Given the description of an element on the screen output the (x, y) to click on. 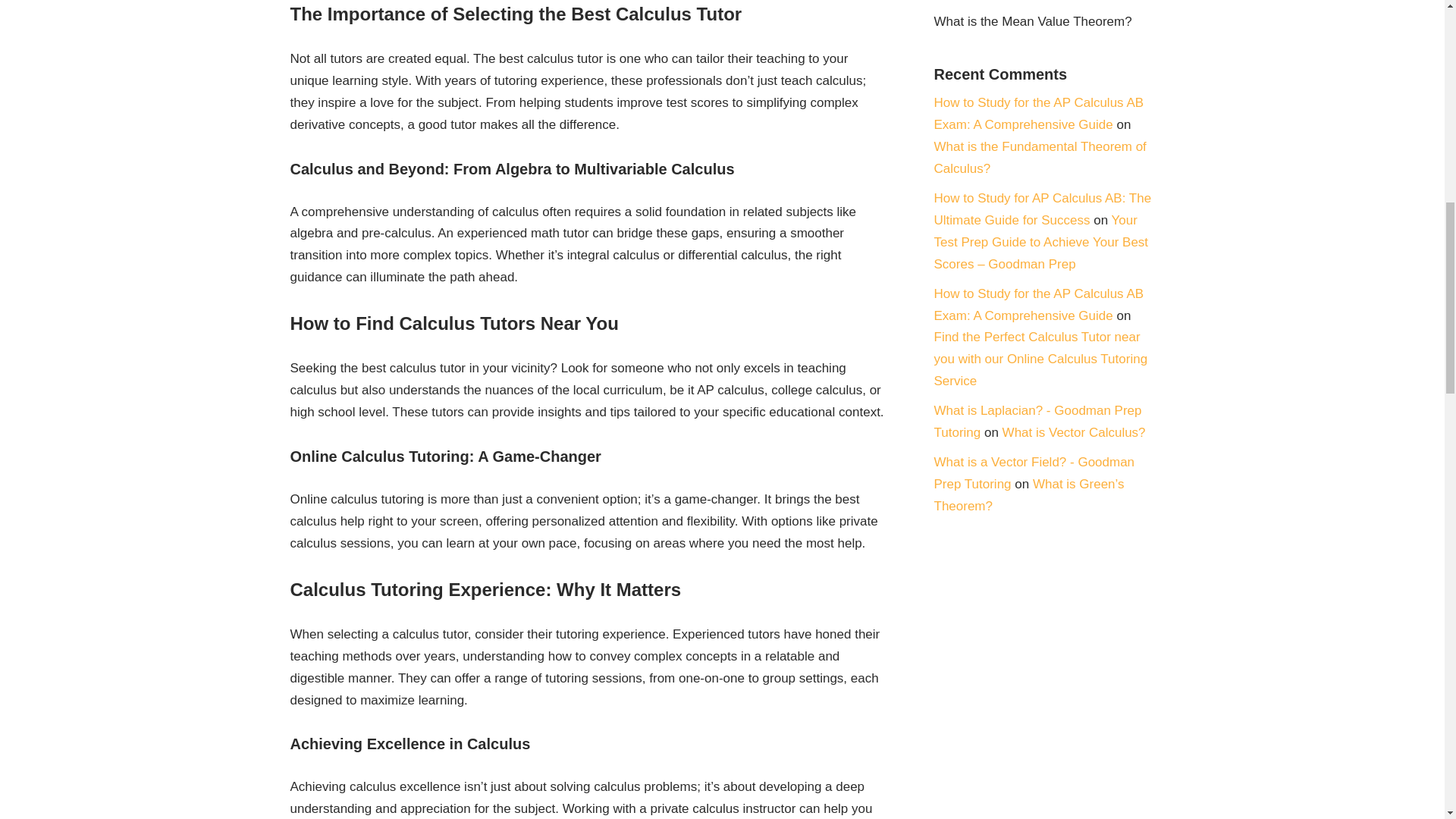
What is Laplacian? - Goodman Prep Tutoring (1037, 421)
What is the Mean Value Theorem? (1033, 21)
What is Vector Calculus? (1074, 432)
What is a Vector Field? - Goodman Prep Tutoring (1034, 473)
What is the Fundamental Theorem of Calculus? (1040, 157)
